Given the description of an element on the screen output the (x, y) to click on. 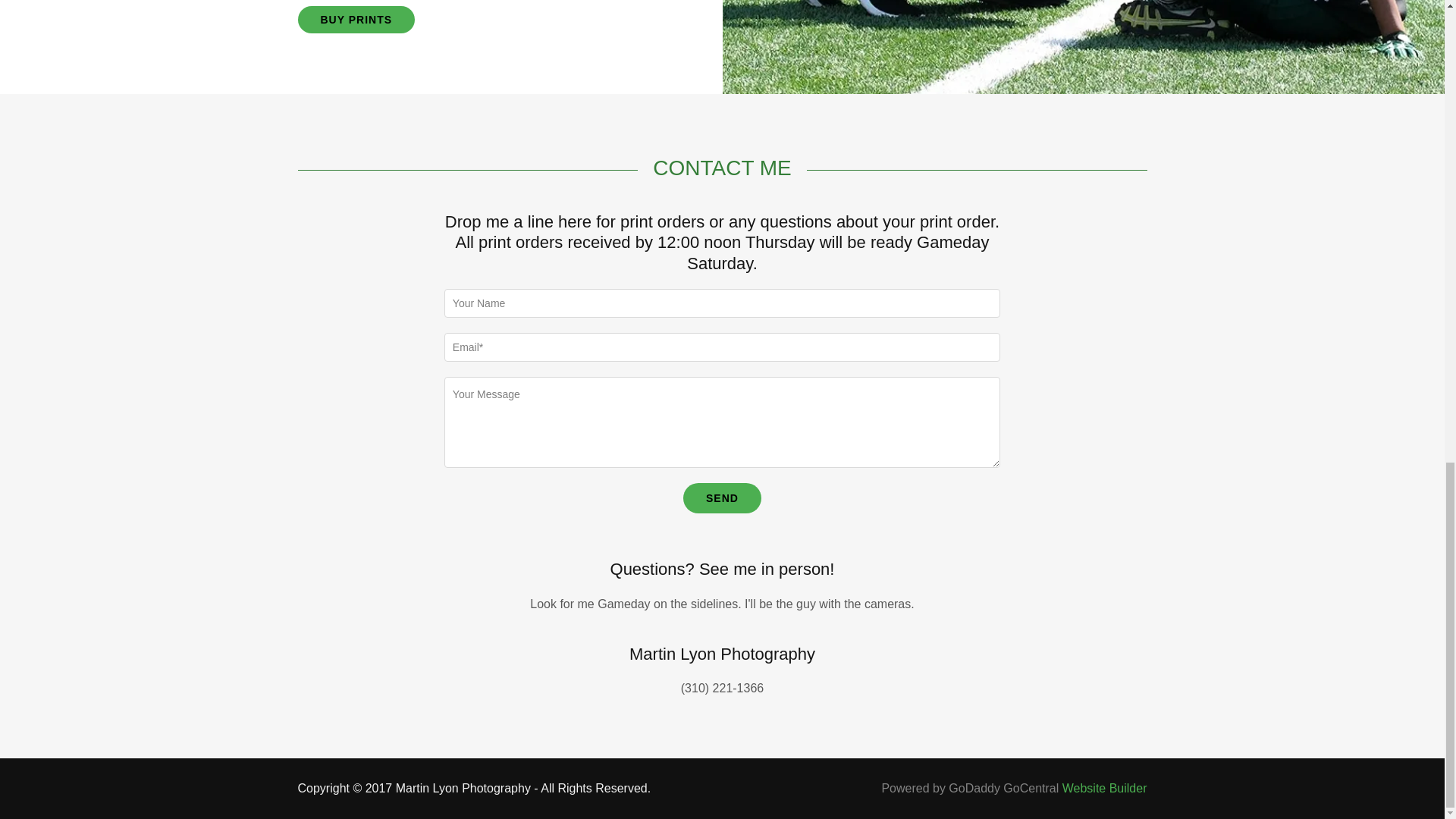
Website Builder (1104, 788)
BUY PRINTS (355, 19)
SEND (721, 498)
